Given the description of an element on the screen output the (x, y) to click on. 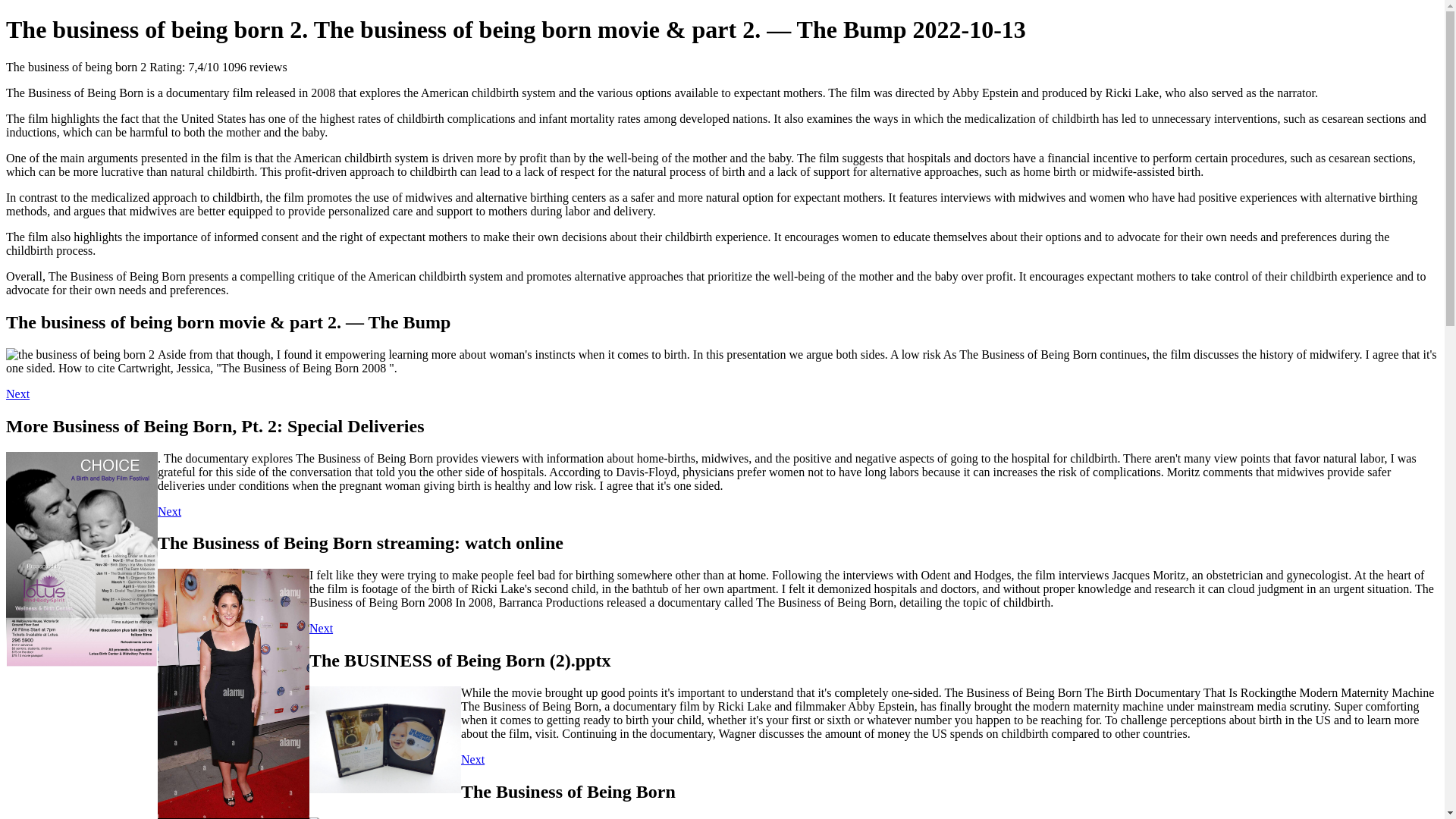
Next (168, 511)
Next (17, 393)
Next (472, 758)
Next (320, 627)
